Given the description of an element on the screen output the (x, y) to click on. 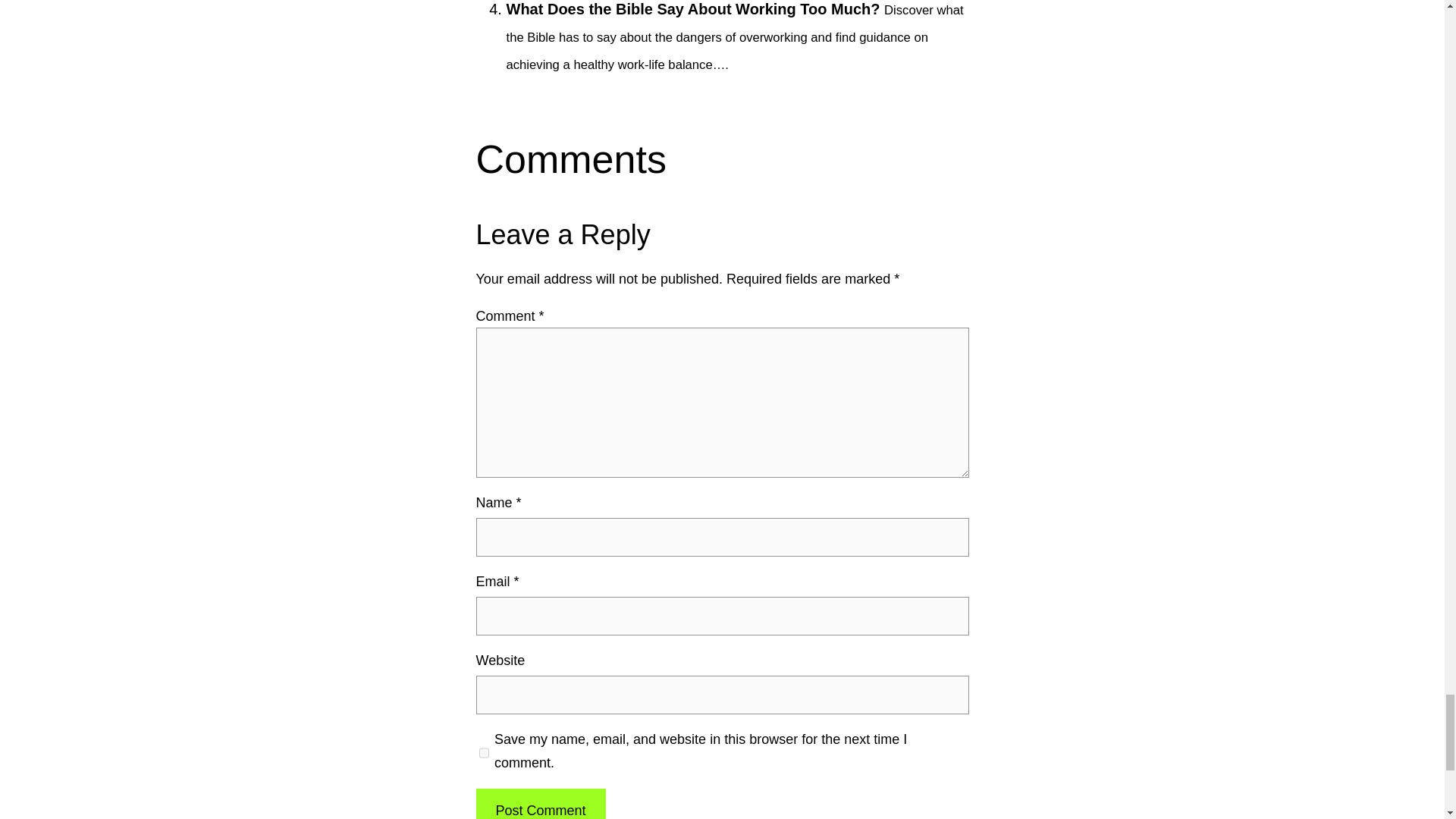
Post Comment (540, 803)
Post Comment (540, 803)
What Does the Bible Say About Working Too Much? (693, 8)
What Does the Bible Say About Working Too Much? (693, 8)
